Given the description of an element on the screen output the (x, y) to click on. 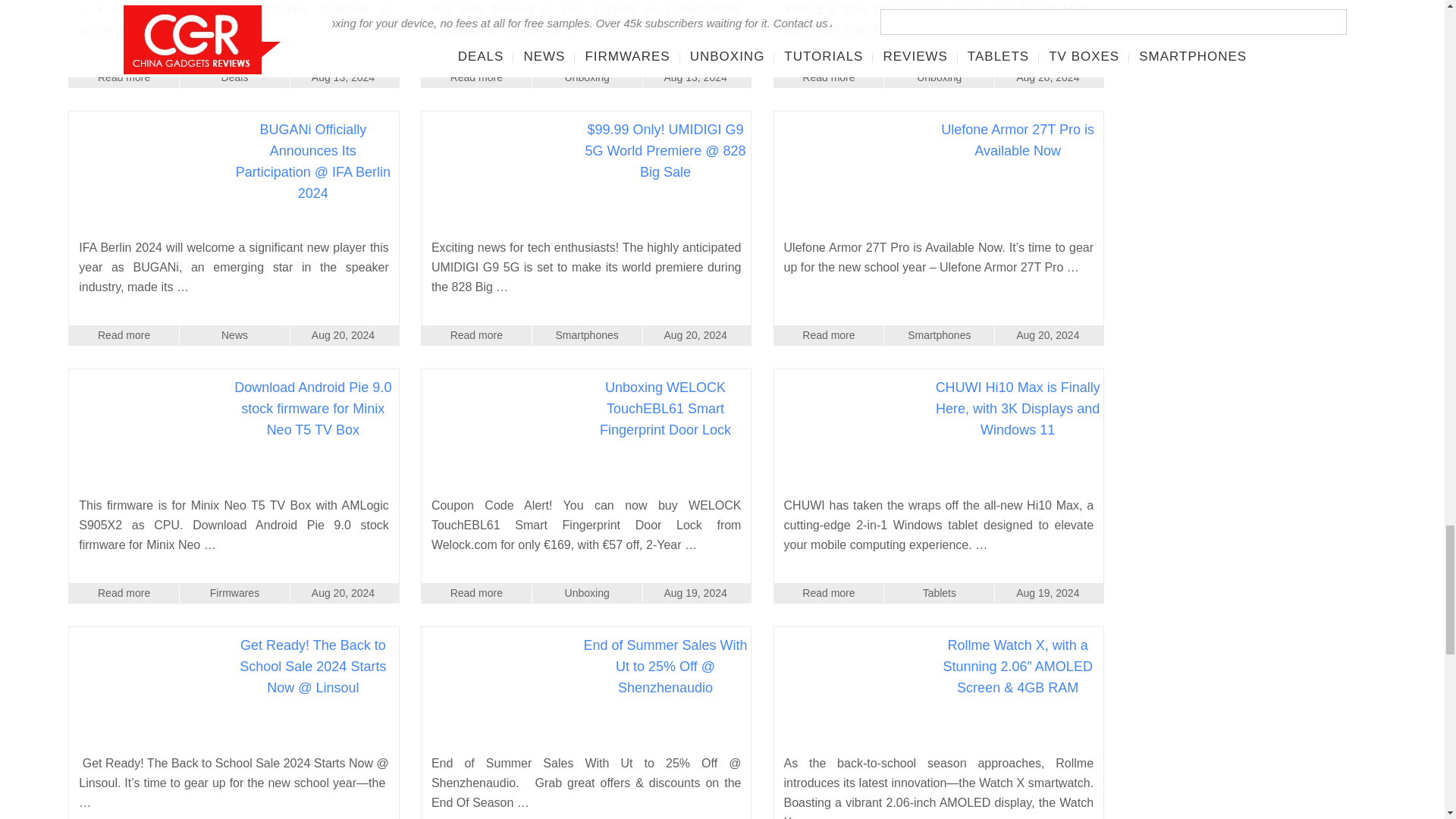
Read more (123, 76)
Read more (476, 76)
Deals (234, 76)
